Given the description of an element on the screen output the (x, y) to click on. 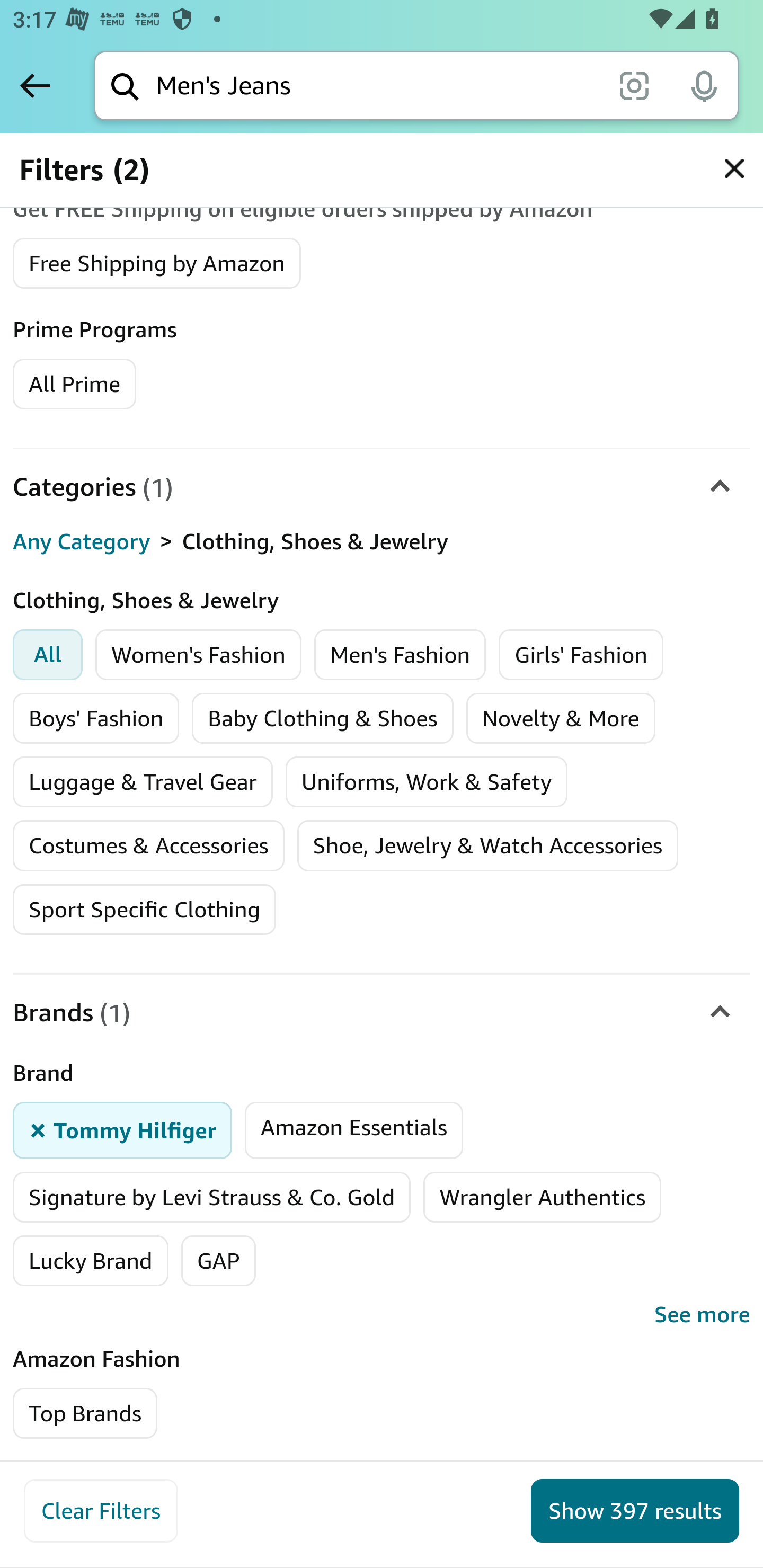
Back (35, 85)
scan it (633, 85)
Free Shipping by Amazon (157, 262)
All Prime (74, 383)
Categories (1) (381, 486)
Any Category (81, 540)
Women's Fashion (198, 654)
Men's Fashion (399, 654)
Girls' Fashion (580, 654)
Boys' Fashion (95, 718)
Baby Clothing & Shoes (322, 718)
Novelty & More (560, 718)
Luggage & Travel Gear (142, 782)
Uniforms, Work & Safety (426, 782)
Costumes & Accessories (148, 845)
Shoe, Jewelry & Watch Accessories (487, 845)
Sport Specific Clothing (144, 910)
Brands (1) (381, 1012)
× Tommy Hilfiger × Tommy Hilfiger (122, 1130)
Amazon Essentials (353, 1130)
Signature by Levi Strauss & Co. Gold (212, 1197)
Wrangler Authentics (542, 1197)
Lucky Brand (90, 1261)
GAP (217, 1261)
See more, Brand See more (381, 1314)
Top Brands (85, 1413)
Clear Filters (100, 1510)
Show 397 results (635, 1510)
